Given the description of an element on the screen output the (x, y) to click on. 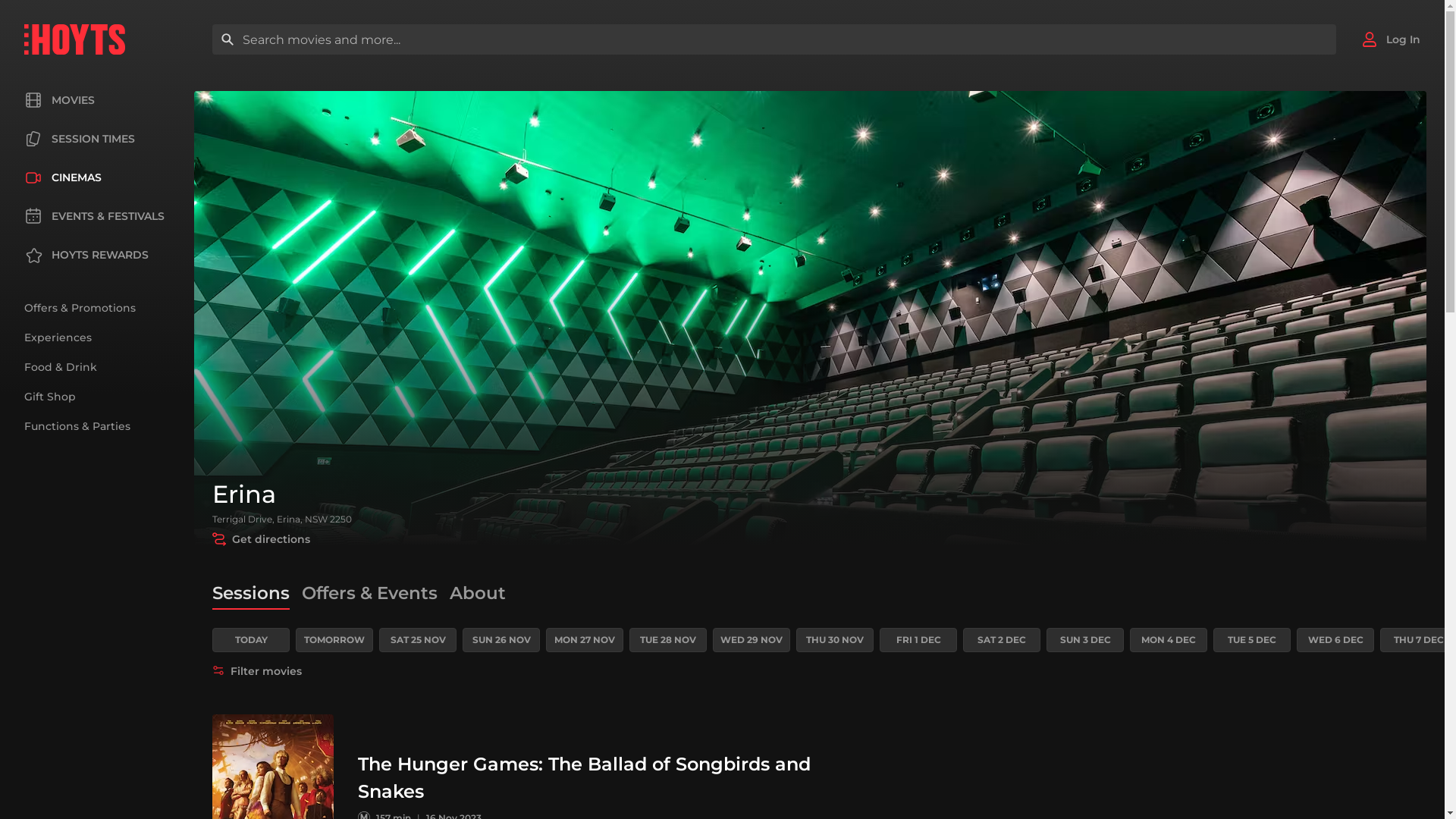
SESSION TIMES Element type: text (79, 138)
Offers & Events Element type: text (369, 592)
Food & Drink Element type: text (60, 366)
Sessions Element type: text (250, 592)
SUN 3 DEC Element type: text (1084, 639)
Gift Shop Element type: text (49, 396)
SAT 25 NOV Element type: text (417, 639)
Experiences Element type: text (57, 337)
SUN 26 NOV Element type: text (500, 639)
TODAY Element type: text (250, 639)
THU 30 NOV Element type: text (834, 639)
TUE 5 DEC Element type: text (1251, 639)
MON 4 DEC Element type: text (1168, 639)
Filter movies Element type: text (256, 670)
Log In Element type: text (1390, 39)
EVENTS & FESTIVALS Element type: text (94, 216)
TUE 28 NOV Element type: text (667, 639)
TOMORROW Element type: text (334, 639)
HOYTS Element type: hover (74, 39)
WED 29 NOV Element type: text (751, 639)
Get directions Element type: text (261, 539)
SAT 2 DEC Element type: text (1001, 639)
Search Element type: hover (227, 39)
CINEMAS Element type: text (62, 177)
WED 6 DEC Element type: text (1335, 639)
Functions & Parties Element type: text (77, 425)
Offers & Promotions Element type: text (79, 307)
FRI 1 DEC Element type: text (918, 639)
About Element type: text (477, 592)
The Hunger Games: The Ballad of Songbirds and Snakes Element type: text (583, 778)
MON 27 NOV Element type: text (584, 639)
HOYTS REWARDS Element type: text (86, 254)
MOVIES Element type: text (59, 100)
